Given the description of an element on the screen output the (x, y) to click on. 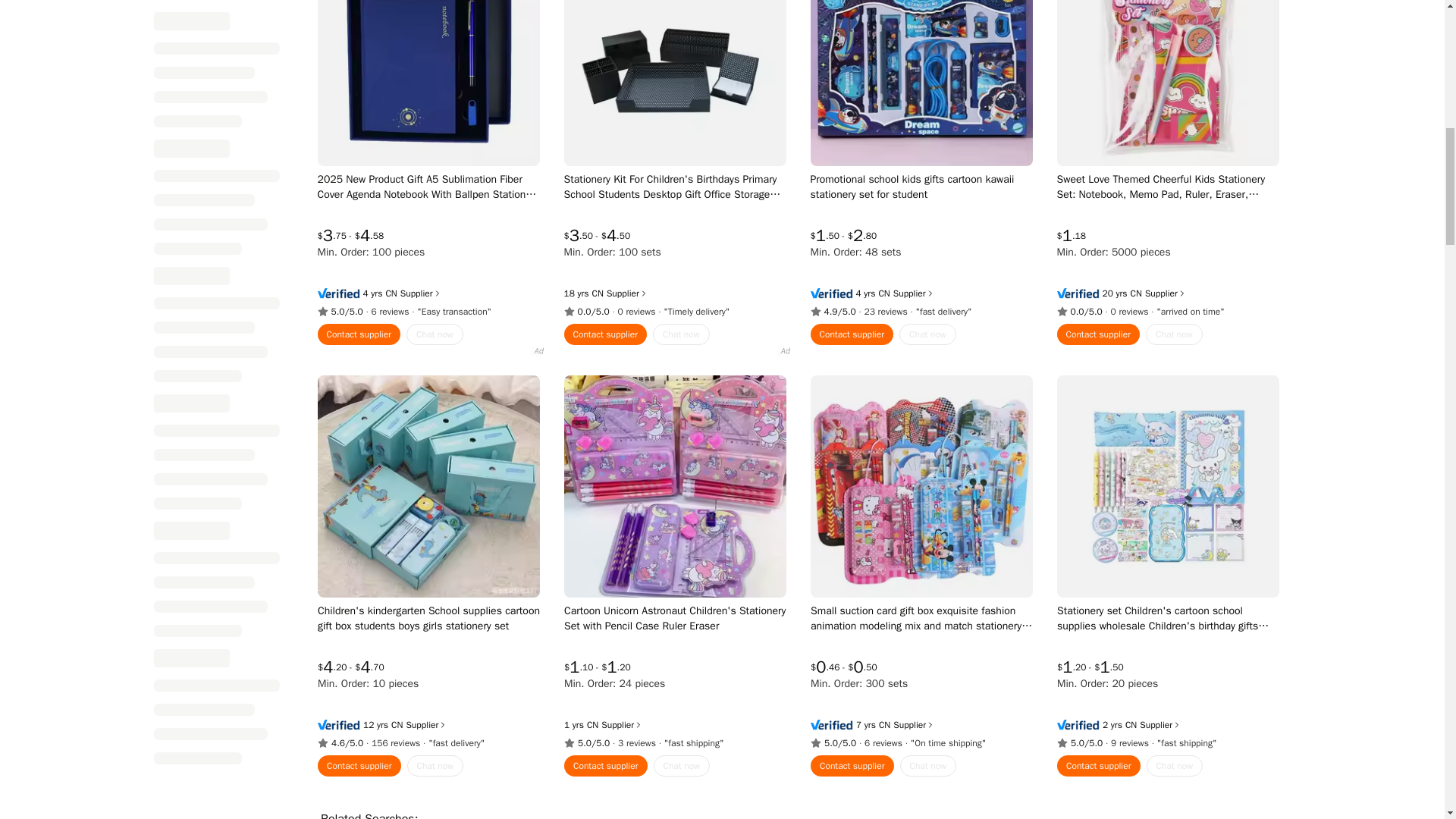
Lishui Queenstar Stationery Manufacturing Co., Ltd. (883, 725)
Hangzhou Mai Ao Li Trading Co., Ltd. (883, 293)
Guangzhou Yalu Trading Co., Ltd. (591, 725)
Shenzhen Huiboxin Electronics Co., Ltd. (397, 725)
Wenzhou Yanhe Technology Co., Ltd. (1129, 725)
